Given the description of an element on the screen output the (x, y) to click on. 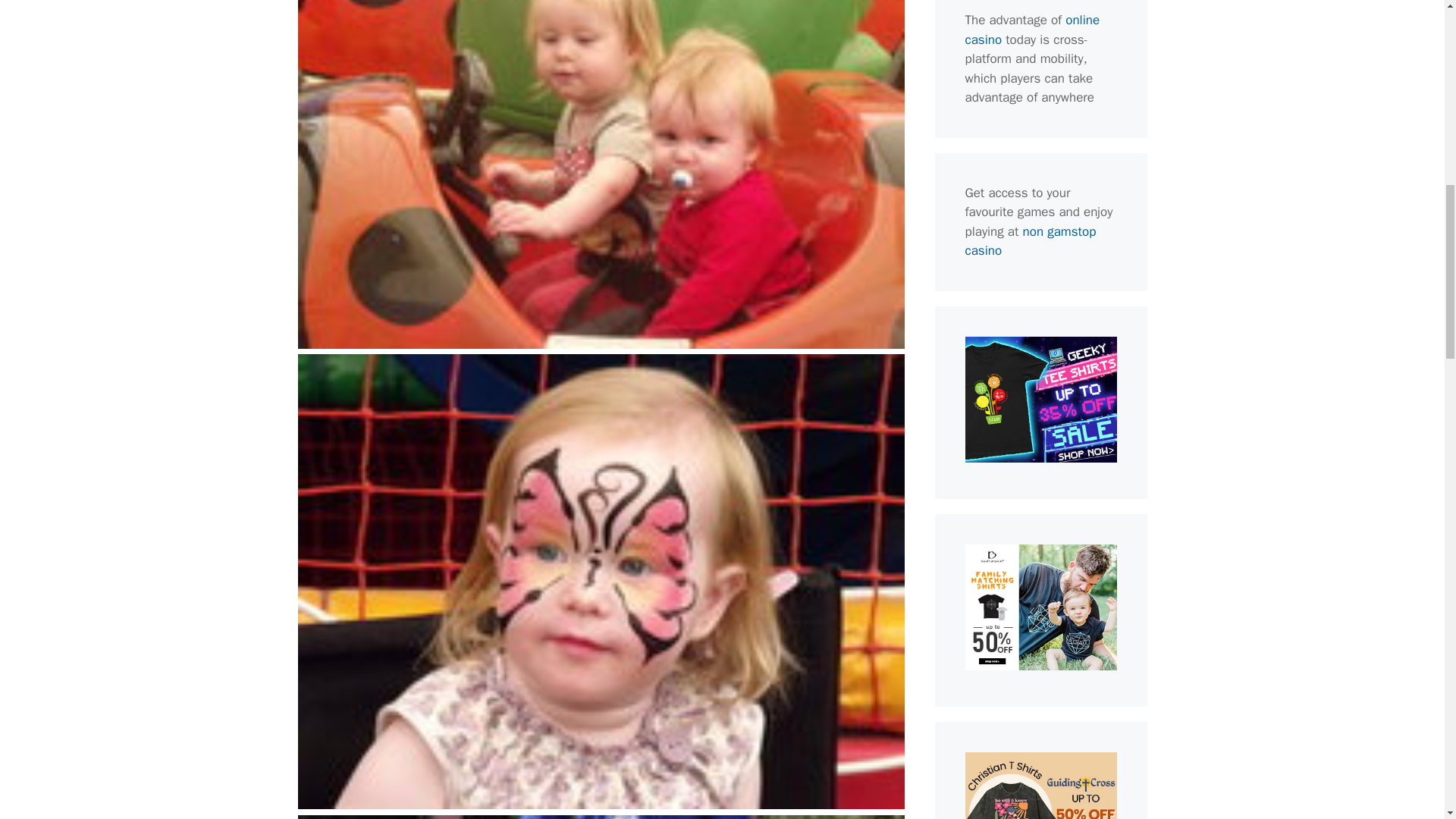
family matching shirts (1039, 666)
Scroll back to top (1406, 720)
geek t shirt (1039, 458)
